Given the description of an element on the screen output the (x, y) to click on. 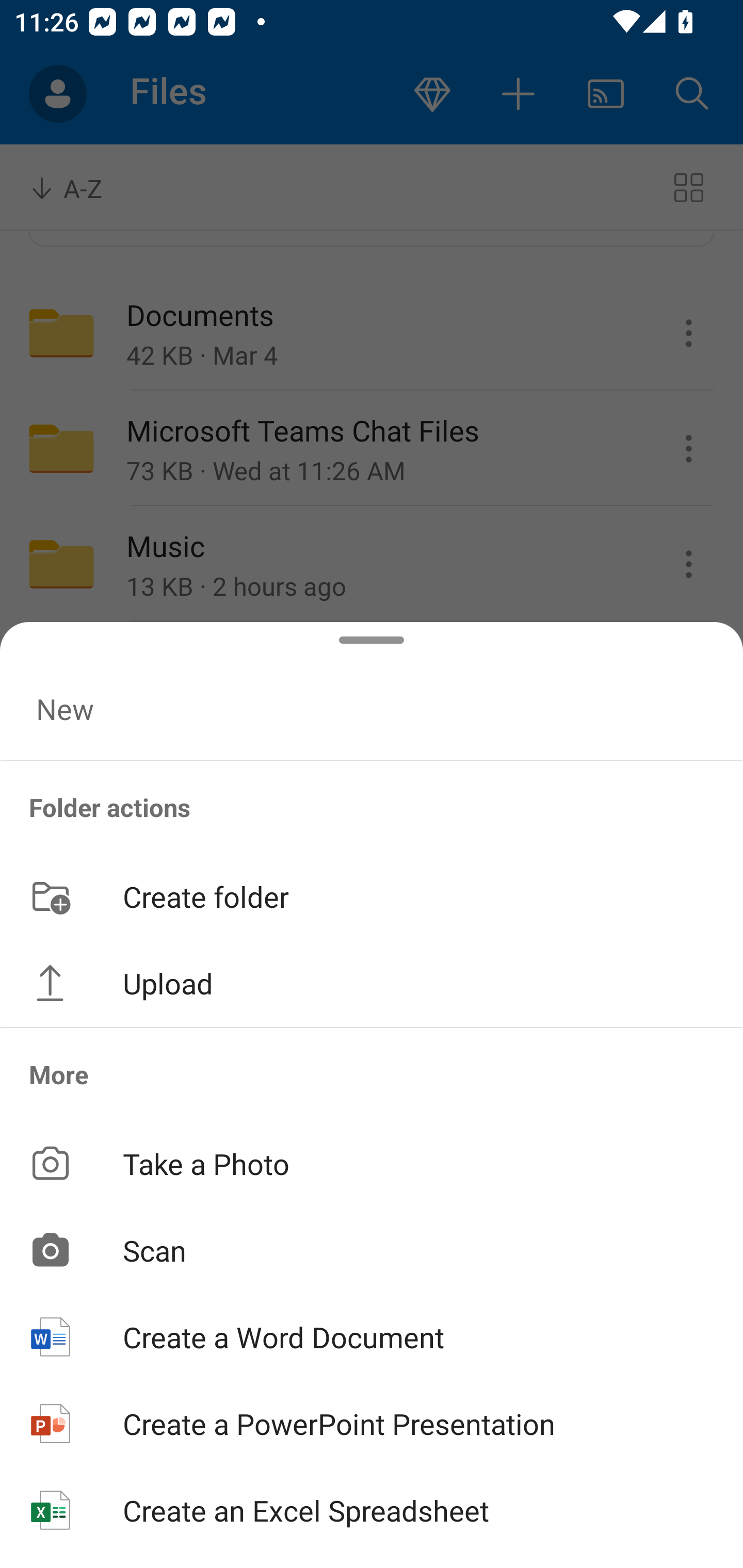
Create folder button Create folder (371, 895)
Upload button Upload (371, 983)
Take a Photo button Take a Photo (371, 1163)
Scan button Scan (371, 1250)
